Given the description of an element on the screen output the (x, y) to click on. 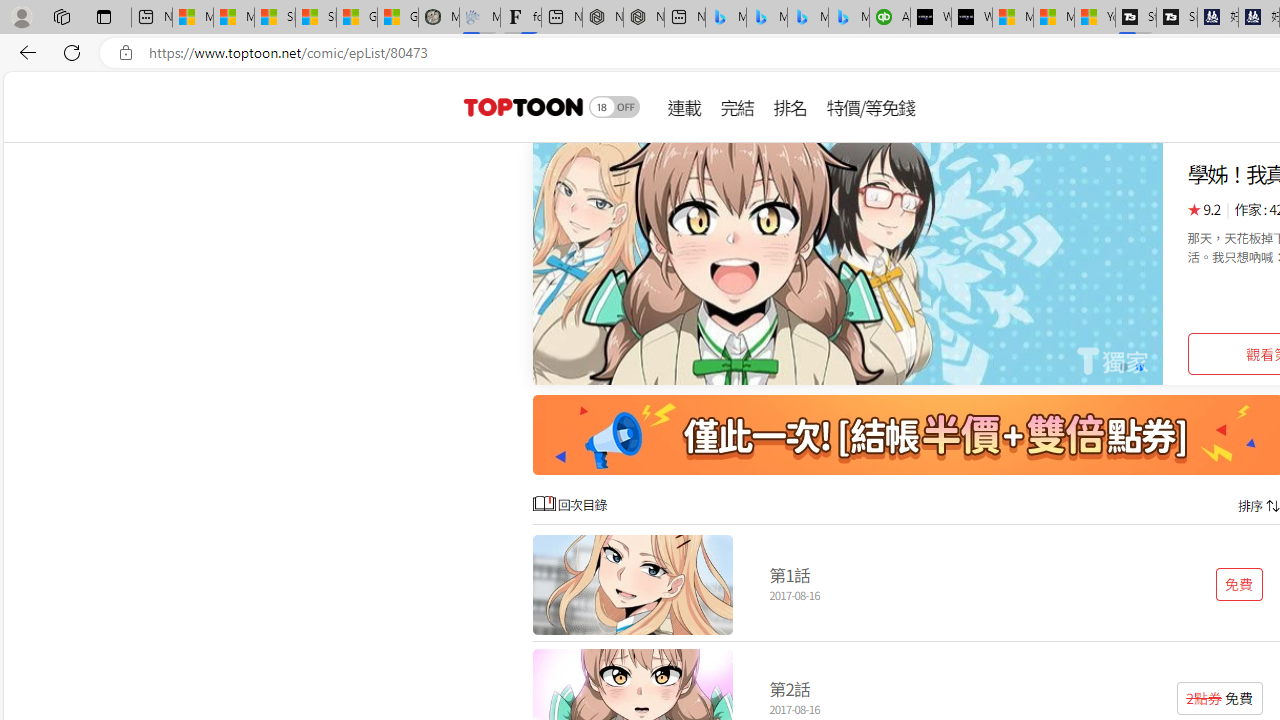
Class:  switch_18mode actionAdultBtn (614, 106)
header (519, 106)
Class: swiper-slide swiper-slide-duplicate-active (847, 264)
Go to slide 2 (1139, 366)
